Given the description of an element on the screen output the (x, y) to click on. 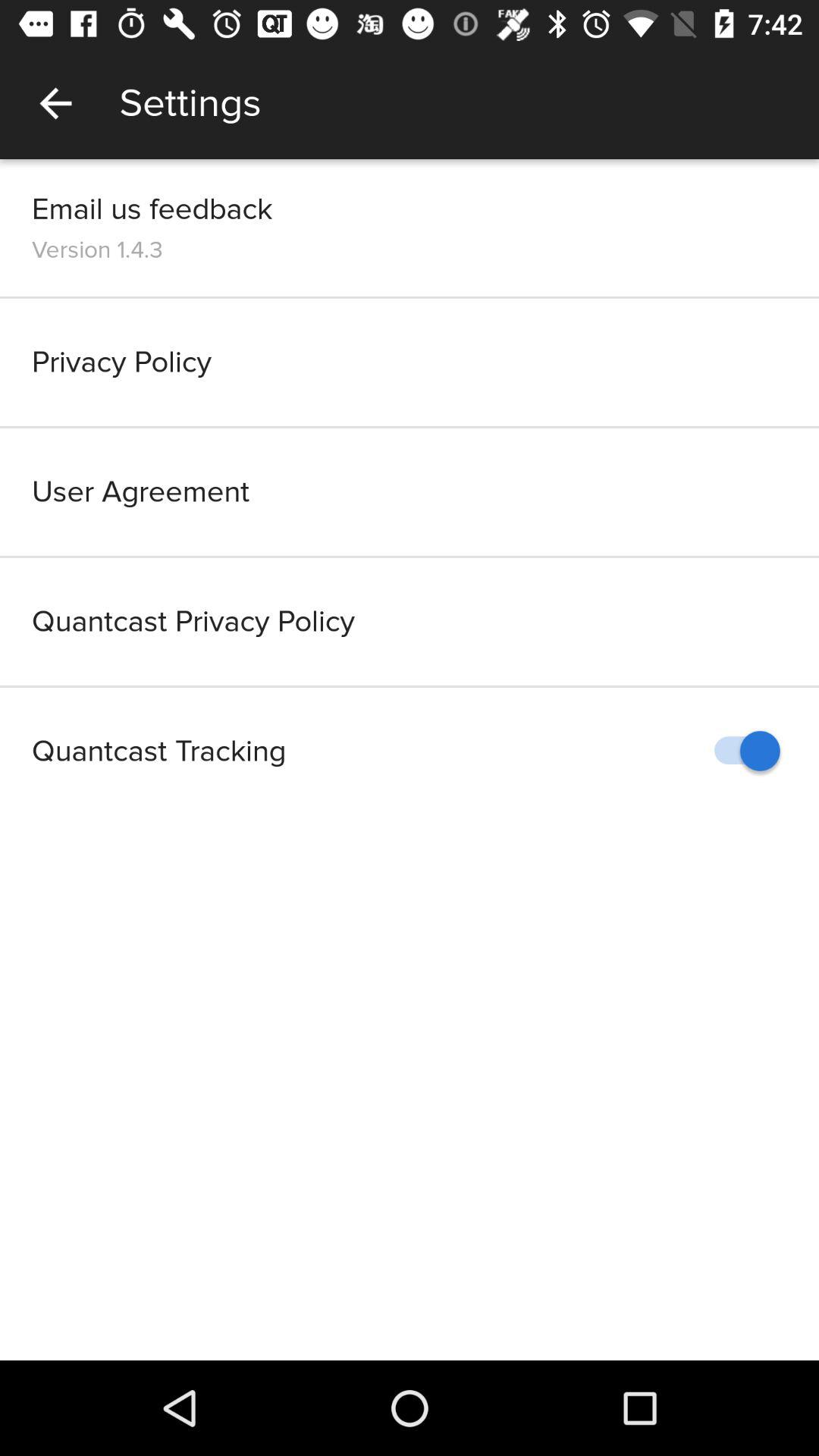
click the item on the right (739, 751)
